Given the description of an element on the screen output the (x, y) to click on. 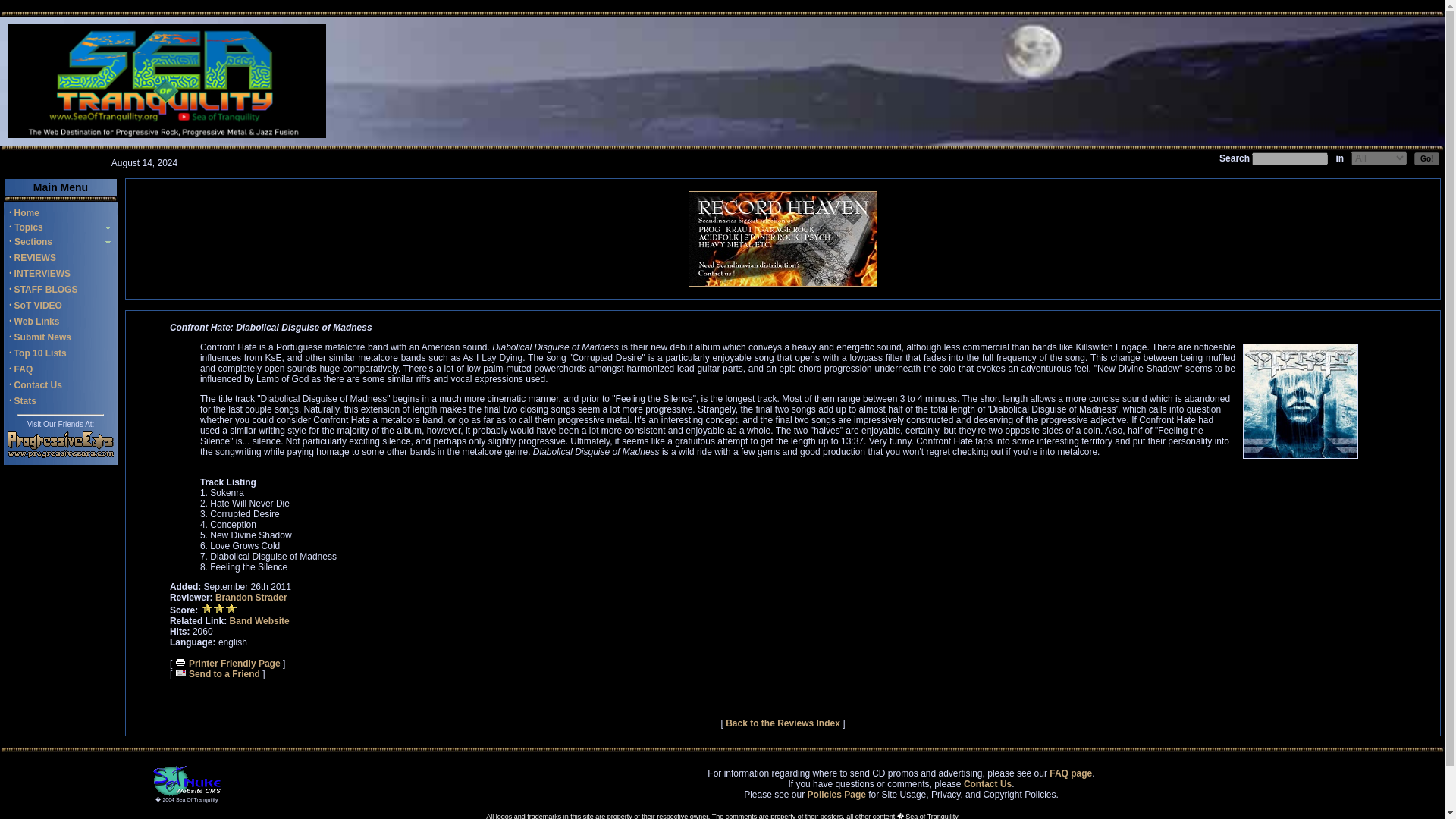
FAQ page (1070, 773)
Top 10 Lists (40, 353)
Back to the Reviews Index (782, 723)
Send to a Friend (217, 674)
Contact Us (987, 783)
Brandon Strader (250, 597)
Sections (31, 241)
Policies Page (837, 794)
SoT VIDEO (38, 305)
Band Website (259, 620)
